Given the description of an element on the screen output the (x, y) to click on. 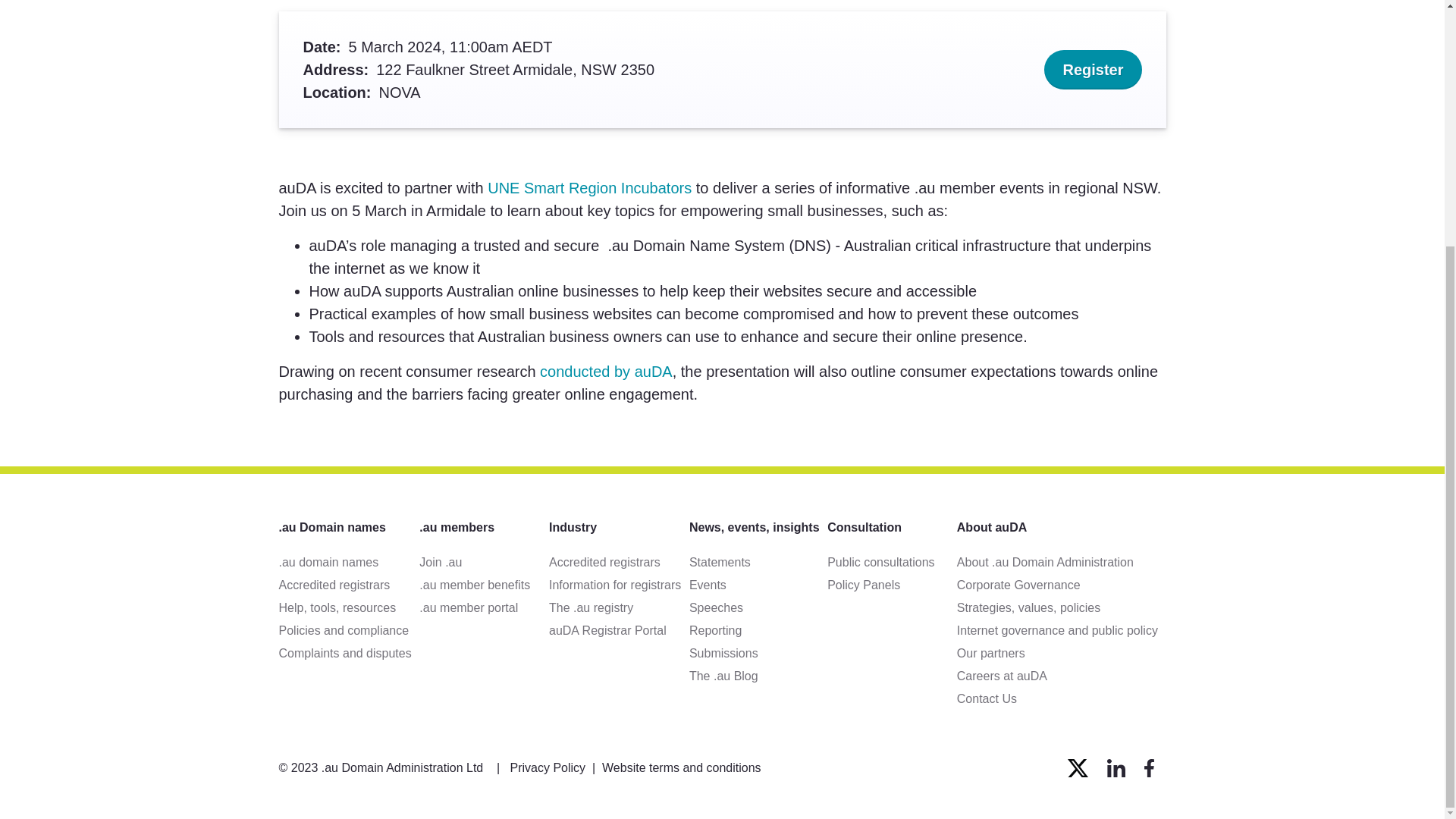
Membership Benefits (483, 585)
Learn about the different namespaces in .au (349, 562)
Find a .au registrar (349, 585)
Become a .au member (483, 562)
